Given the description of an element on the screen output the (x, y) to click on. 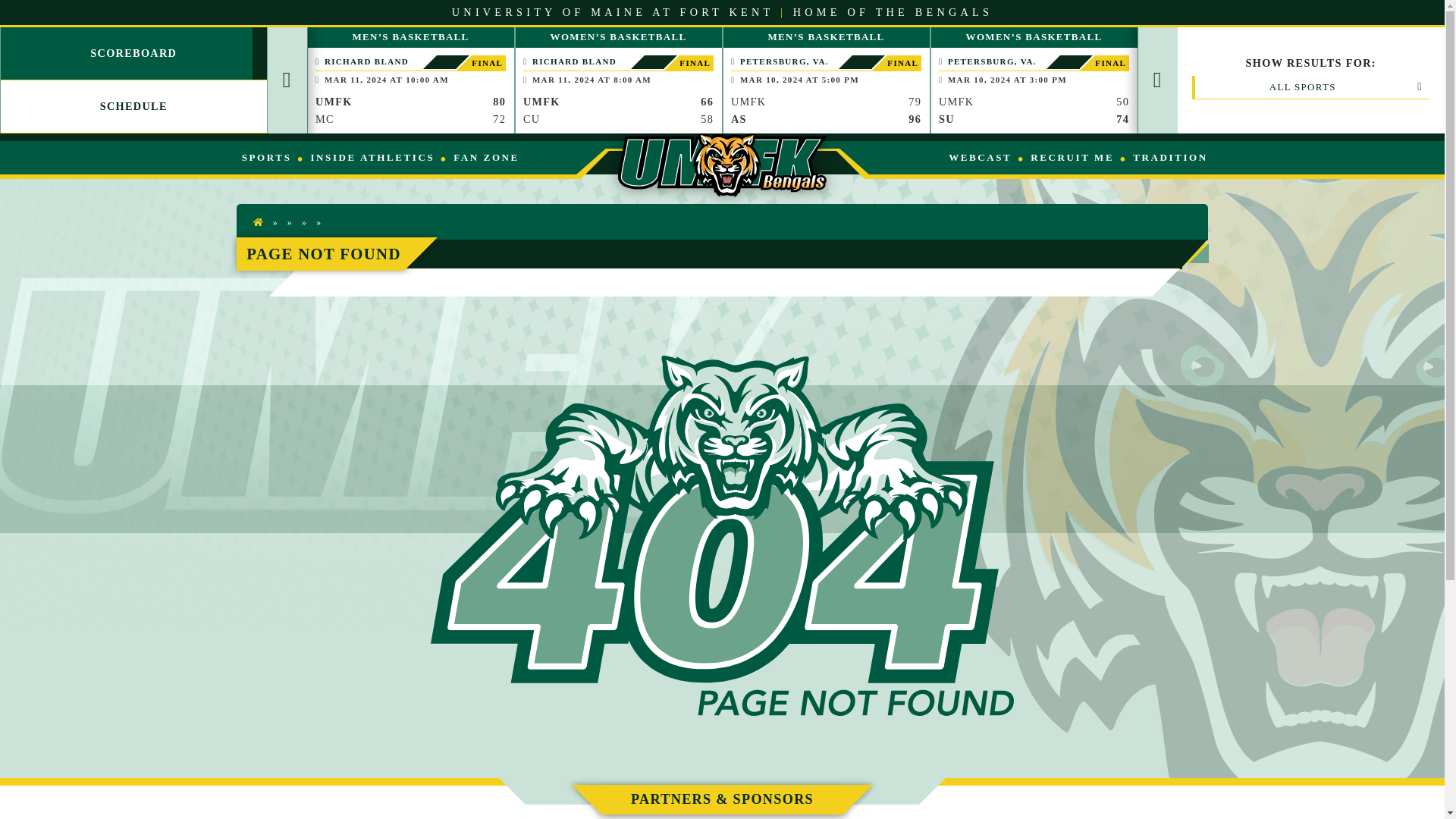
ALL SPORTS (1312, 87)
SCOREBOARD (133, 53)
SCHEDULE (133, 106)
SPORTS (266, 157)
